Given the description of an element on the screen output the (x, y) to click on. 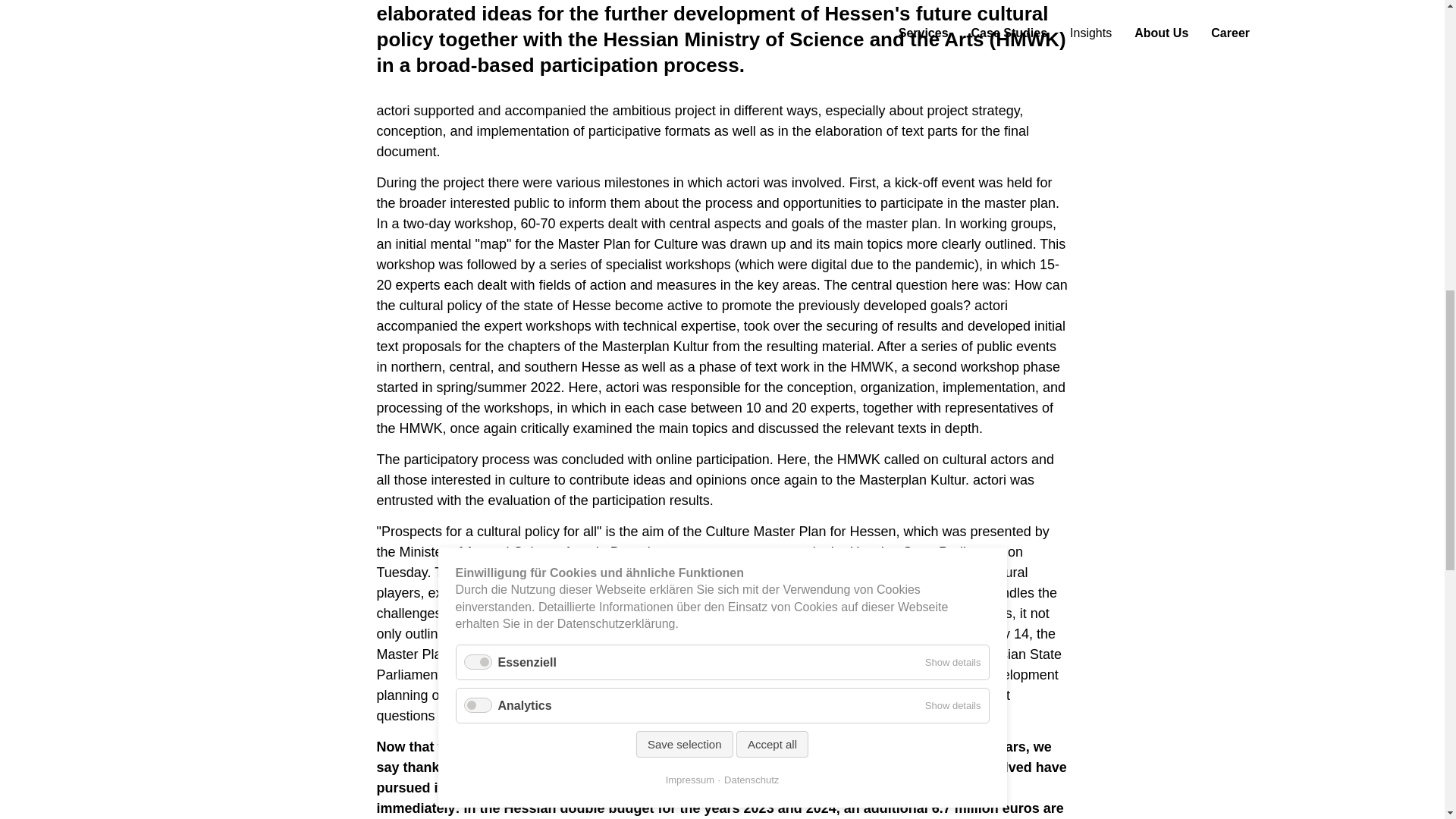
government declaration (864, 654)
